Given the description of an element on the screen output the (x, y) to click on. 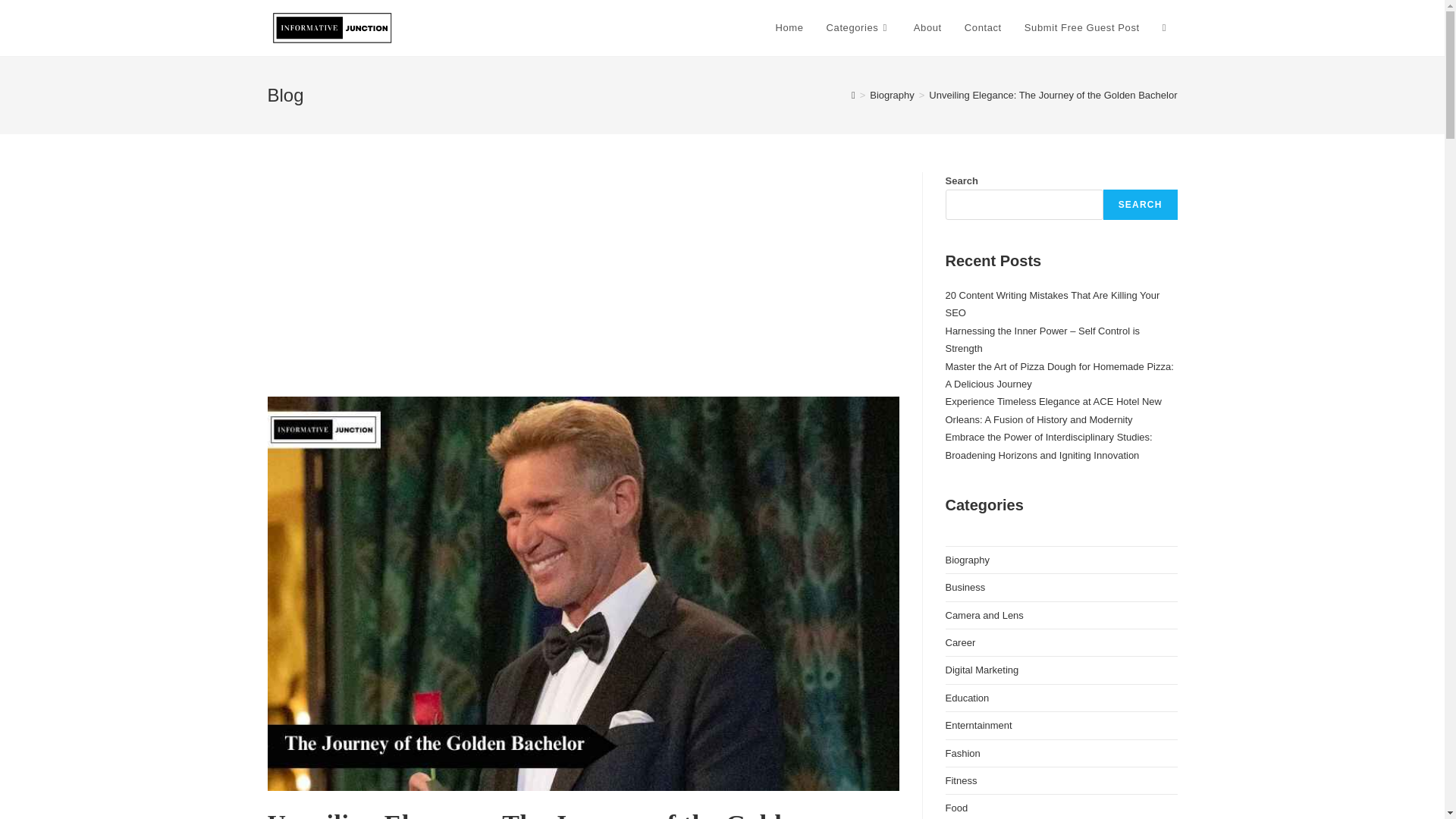
Biography (891, 94)
About (927, 28)
Advertisement (582, 284)
Home (789, 28)
Categories (858, 28)
Contact (983, 28)
Submit Free Guest Post (1082, 28)
